Given the description of an element on the screen output the (x, y) to click on. 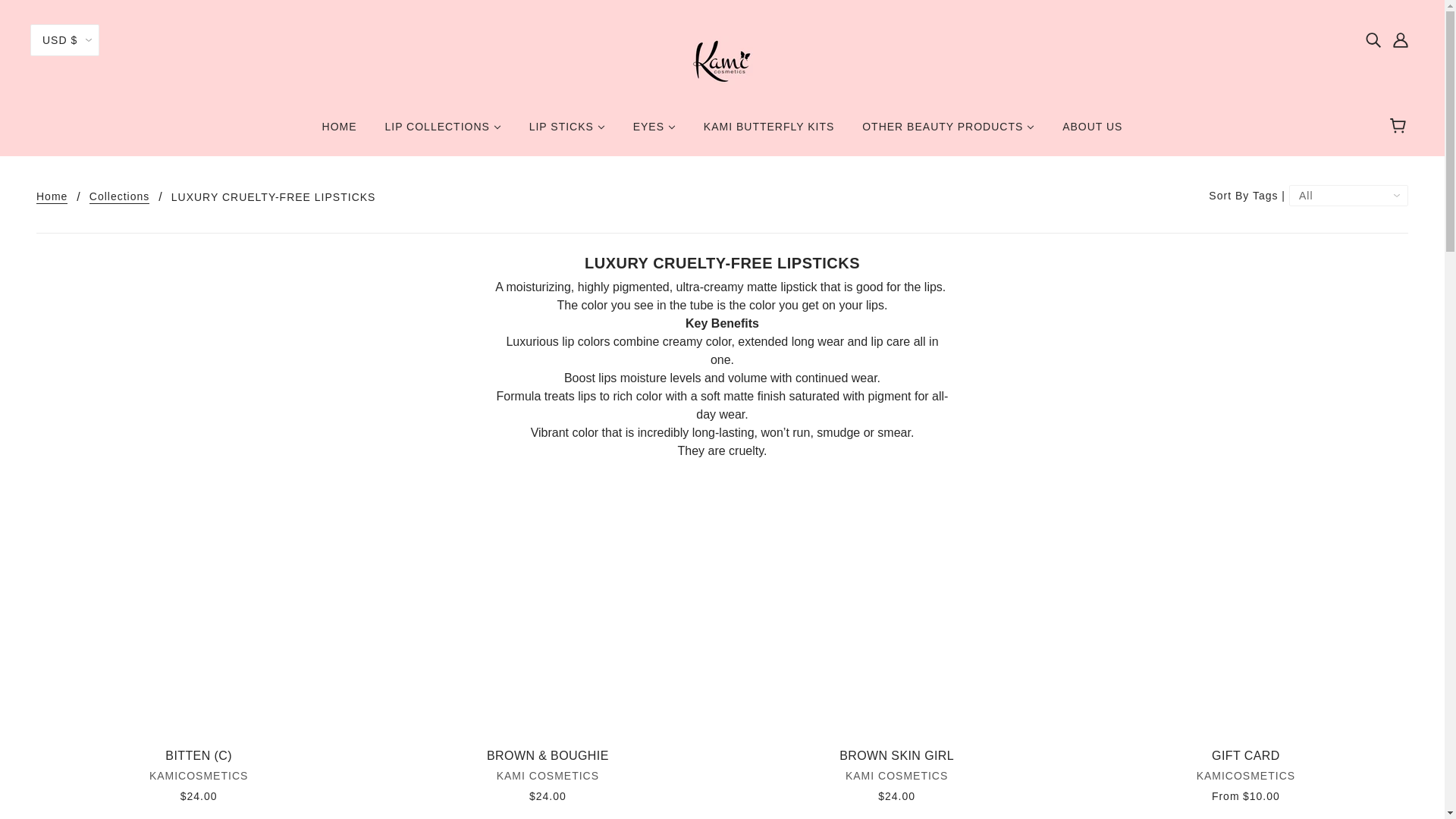
Kami Cosmetics (721, 59)
